Given the description of an element on the screen output the (x, y) to click on. 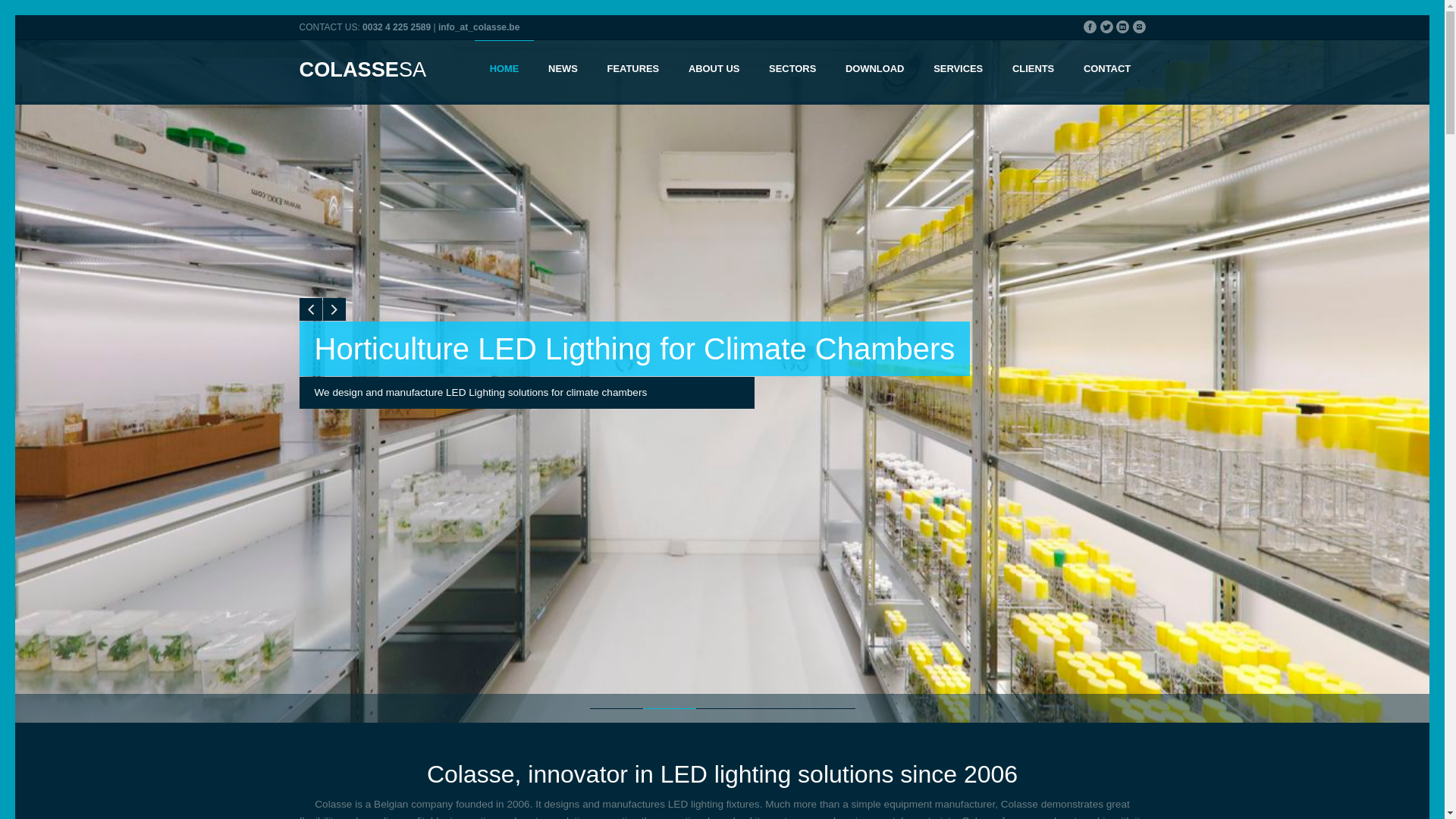
info_at_colasse.be Element type: text (478, 26)
ABOUT US Element type: text (714, 70)
SECTORS Element type: text (792, 70)
SERVICES Element type: text (958, 70)
HOME Element type: text (503, 70)
CLIENTS Element type: text (1033, 70)
DOWNLOAD Element type: text (875, 70)
NEWS Element type: text (562, 70)
CONTACT Element type: text (1107, 70)
FEATURES Element type: text (632, 70)
